Given the description of an element on the screen output the (x, y) to click on. 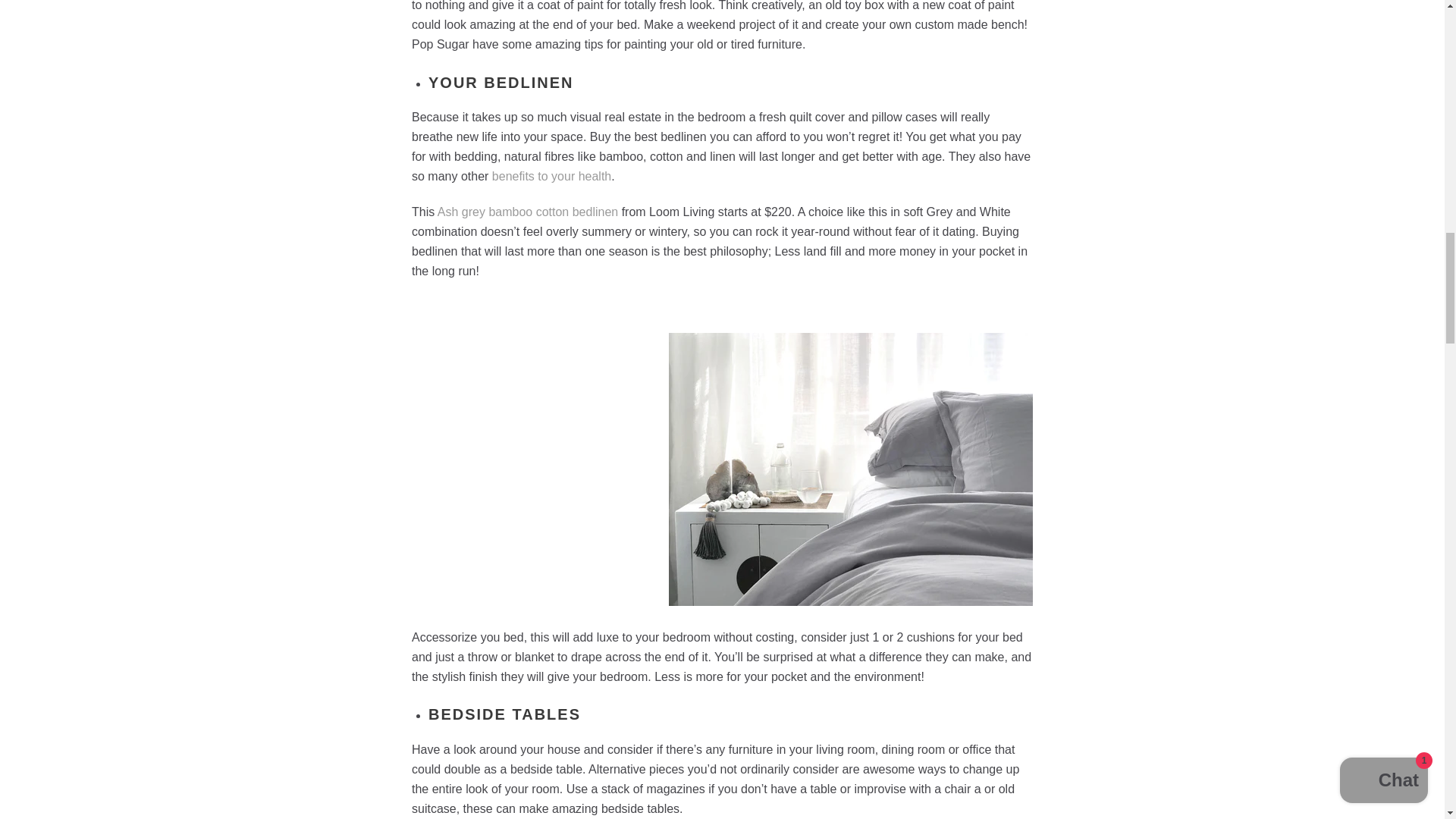
Ash grey bamboo cotton bedlinen (527, 211)
benefits to your health (551, 175)
